Given the description of an element on the screen output the (x, y) to click on. 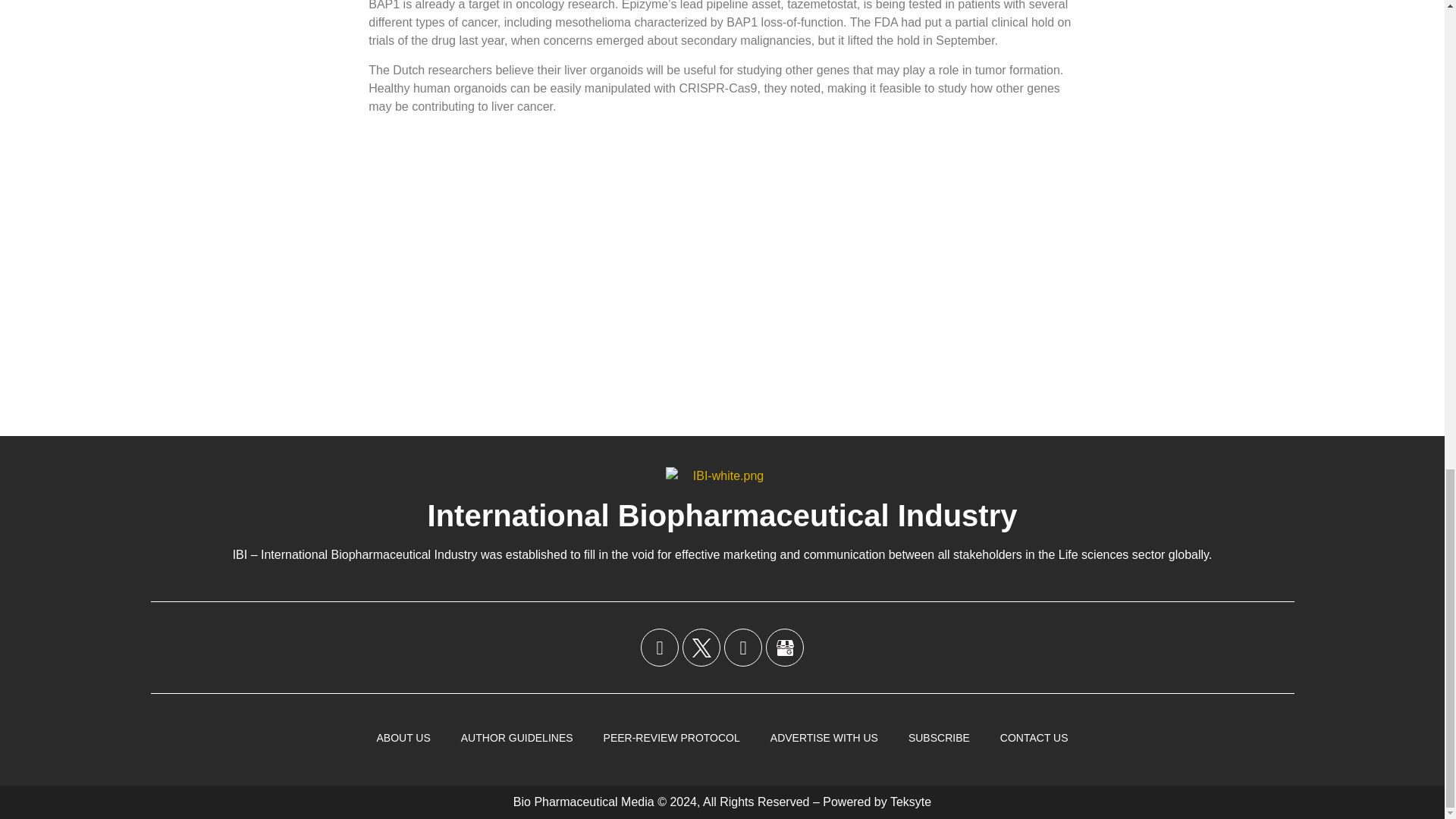
IBI-white.png (721, 475)
Web design services (910, 801)
